Given the description of an element on the screen output the (x, y) to click on. 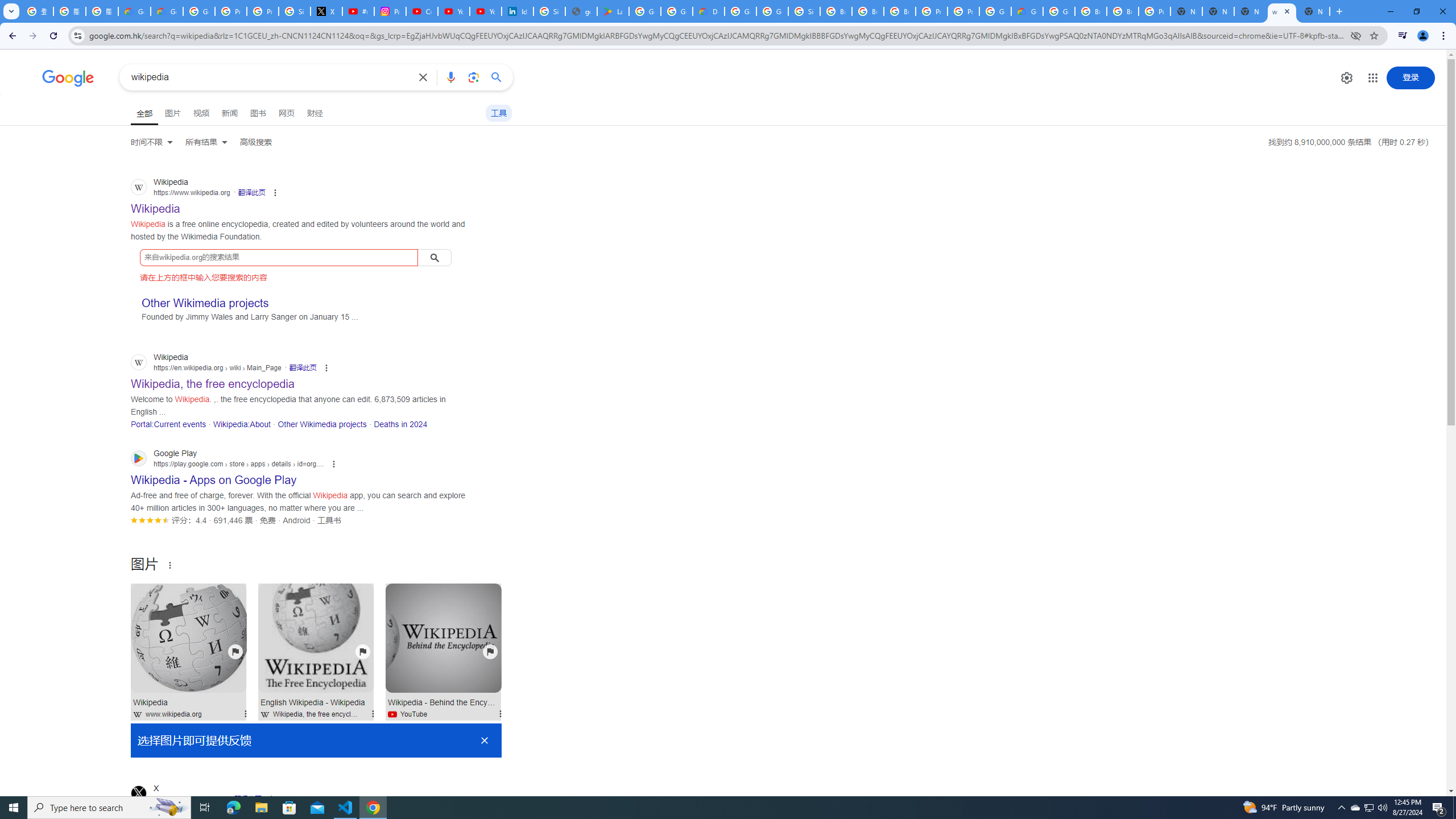
Google Cloud Platform (740, 11)
X (326, 11)
Google Workspace - Specific Terms (676, 11)
Portal:Current events (168, 424)
Last Shelter: Survival - Apps on Google Play (613, 11)
 Wikipedia Wikipedia https://www.wikipedia.org (155, 205)
